Given the description of an element on the screen output the (x, y) to click on. 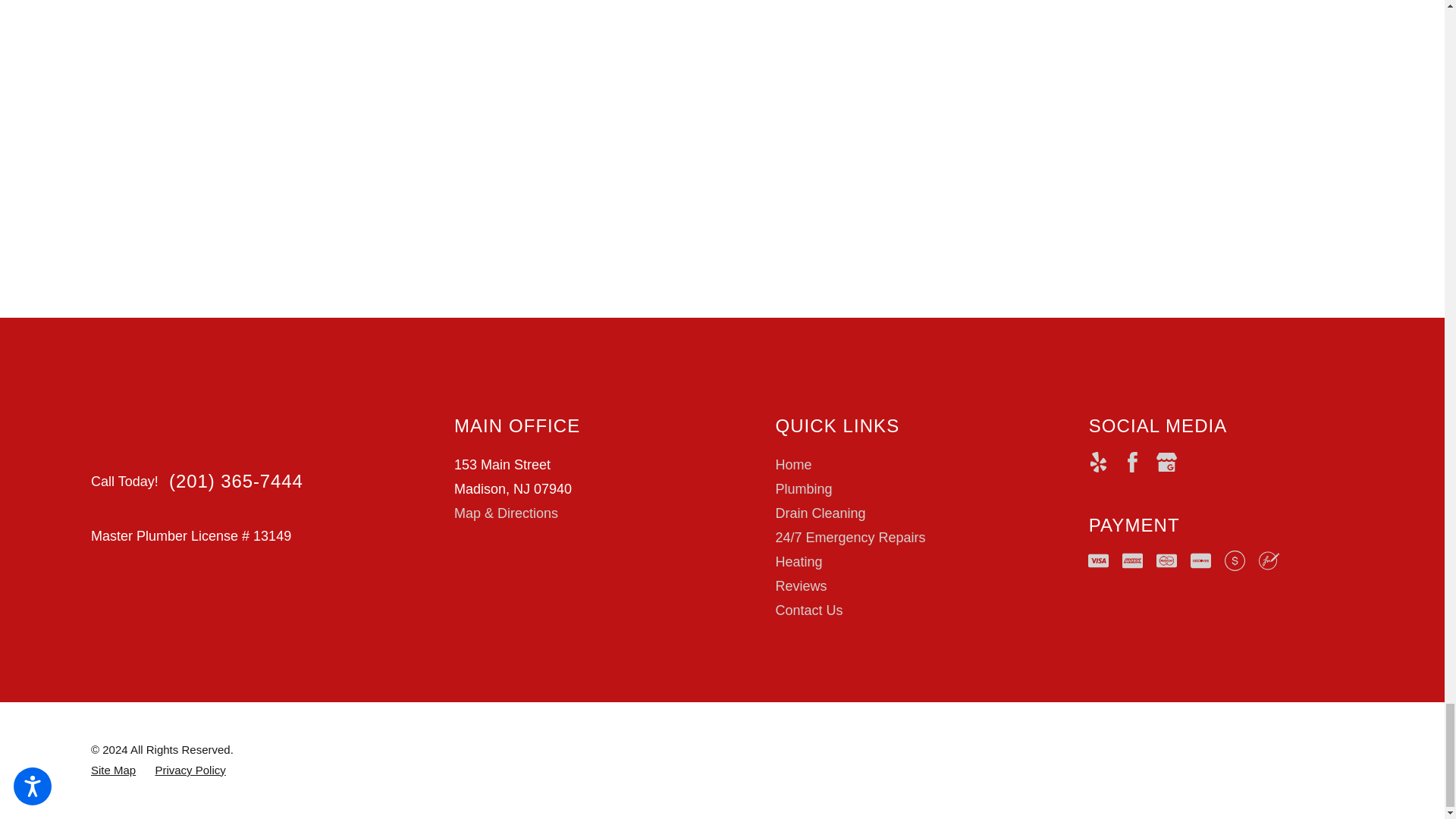
Facebook (1132, 462)
Google Business Profile (1166, 462)
Yelp (1097, 462)
Visa (1097, 560)
AMEX (1132, 560)
